Given the description of an element on the screen output the (x, y) to click on. 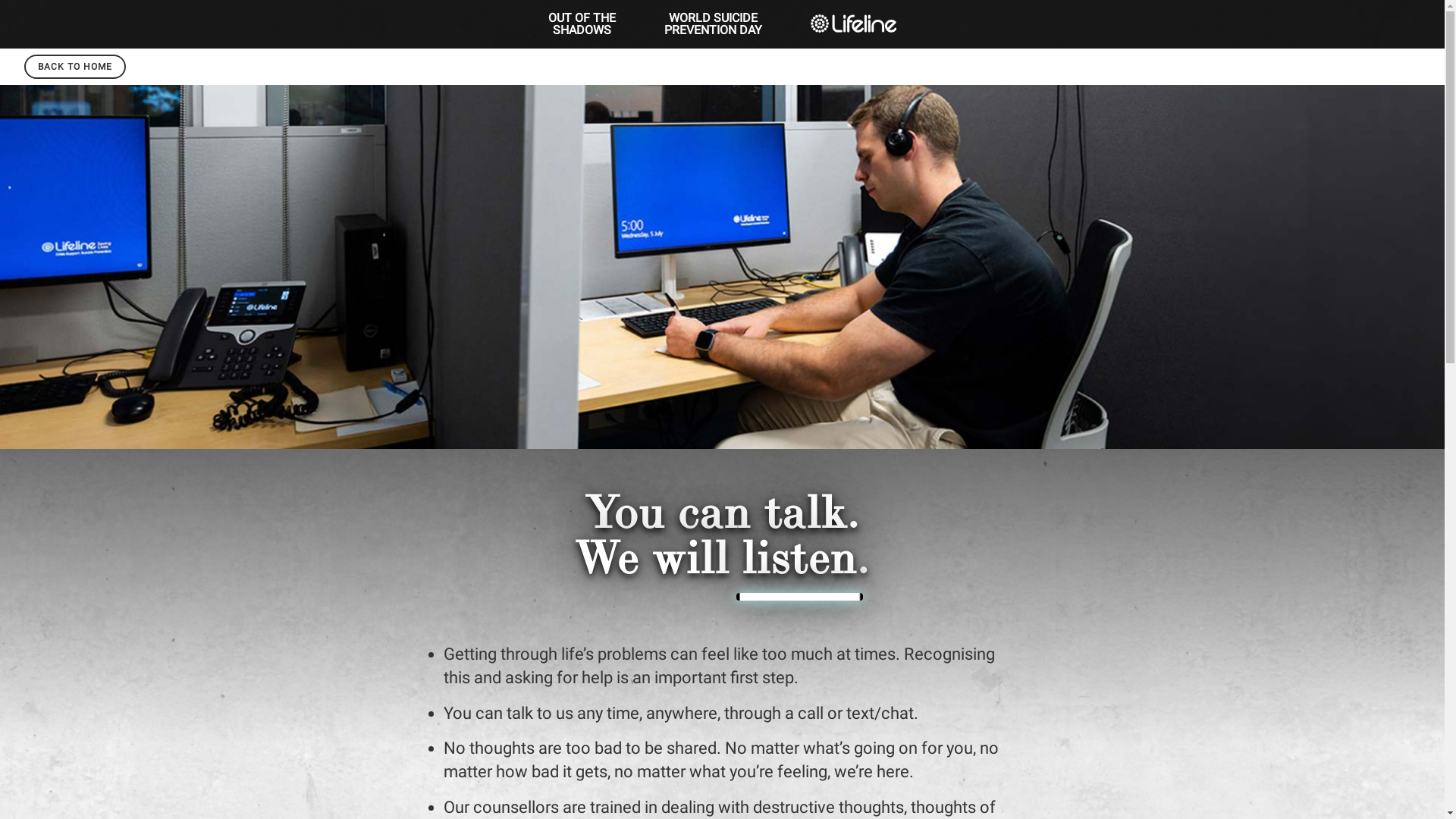
OUT OF THE
SHADOWS Element type: text (581, 24)
BACK TO HOME Element type: text (74, 66)
